Given the description of an element on the screen output the (x, y) to click on. 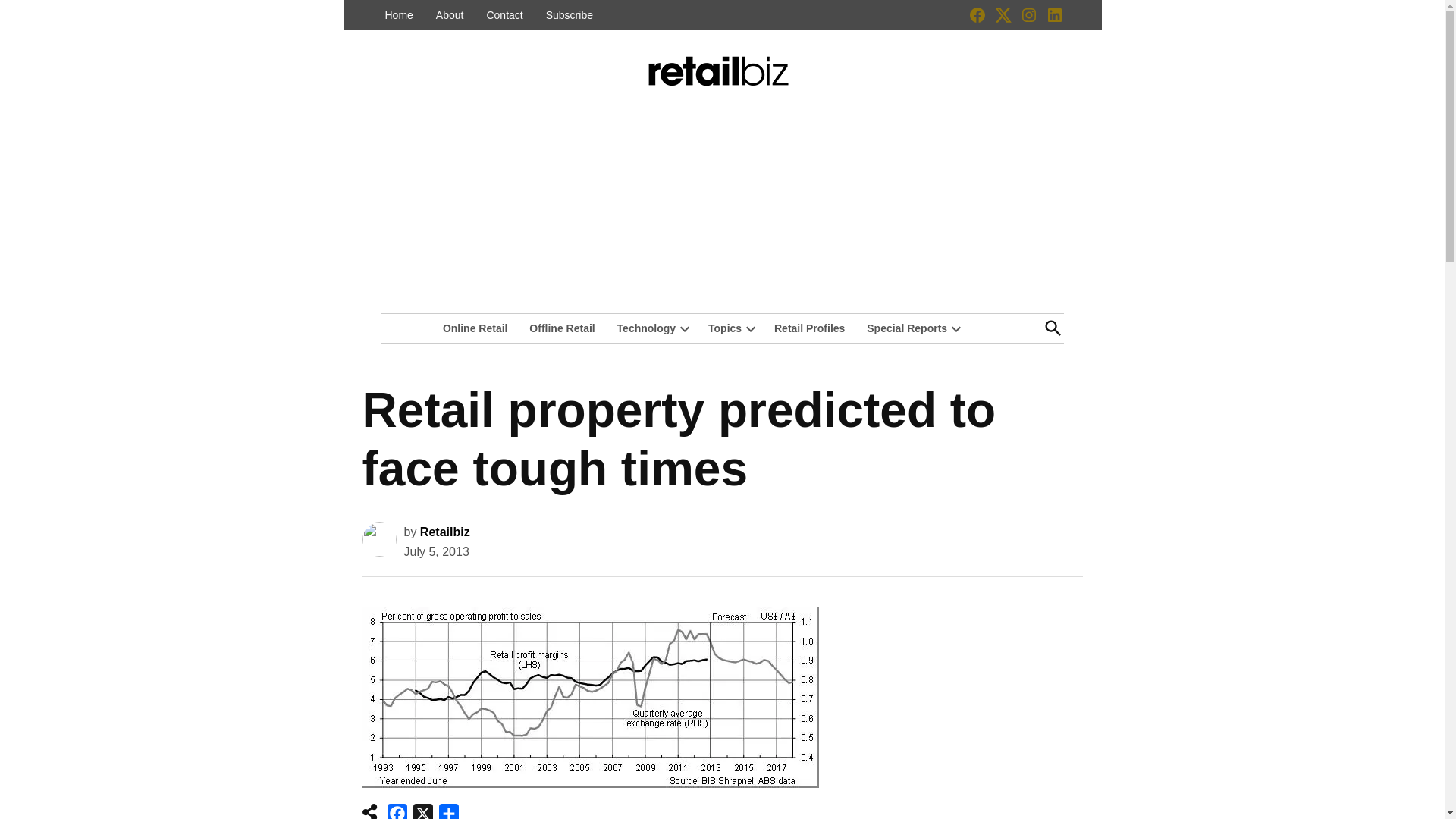
X (422, 811)
Facebook (397, 811)
3rd party ad content (969, 694)
